Given the description of an element on the screen output the (x, y) to click on. 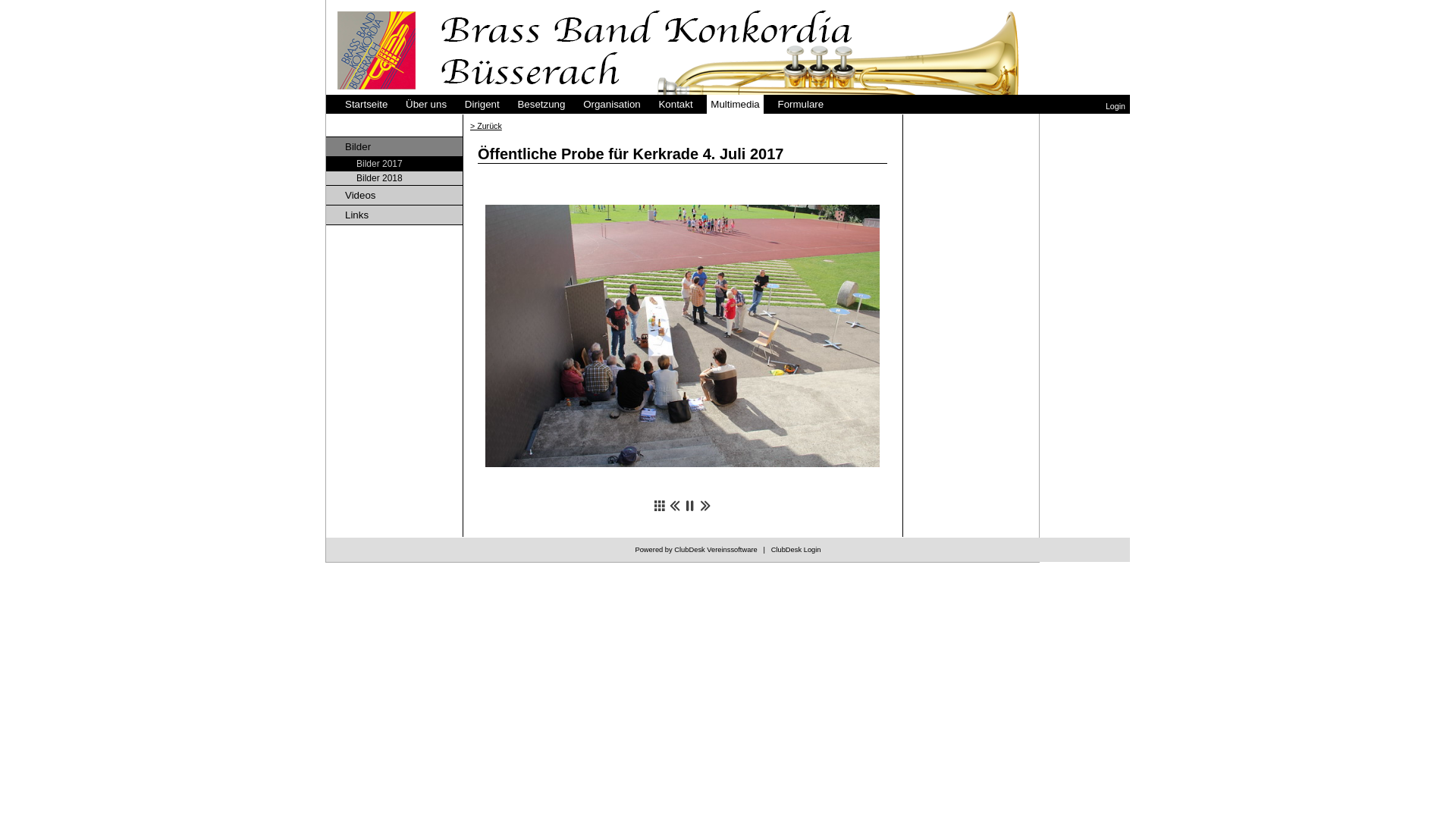
Powered by ClubDesk Vereinssoftware Element type: text (695, 549)
Bilder Element type: text (394, 146)
Kontakt Element type: text (675, 103)
Links Element type: text (394, 215)
Dirigent Element type: text (481, 103)
ClubDesk Login Element type: text (796, 549)
Startseite Element type: text (366, 103)
Bilder 2017 Element type: text (394, 163)
Bilder 2018 Element type: text (394, 178)
Organisation Element type: text (611, 103)
Videos Element type: text (394, 195)
Multimedia Element type: text (734, 103)
Besetzung Element type: text (540, 103)
Login Element type: text (1115, 106)
Formulare Element type: text (800, 103)
